Given the description of an element on the screen output the (x, y) to click on. 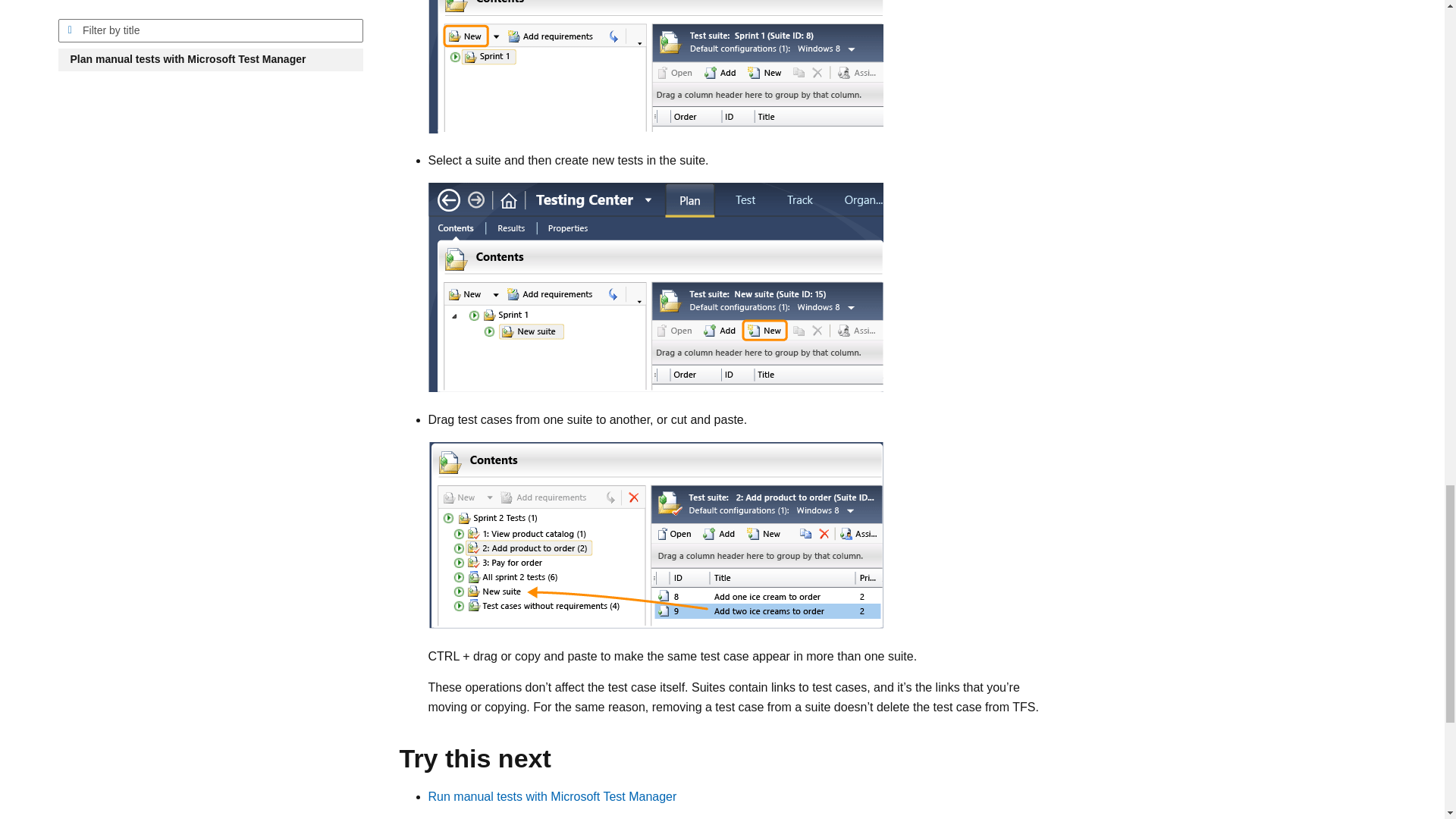
Creating a new test suite (655, 66)
Drag test cases from one suite to another (655, 534)
Create a test case in a suite (655, 287)
